Given the description of an element on the screen output the (x, y) to click on. 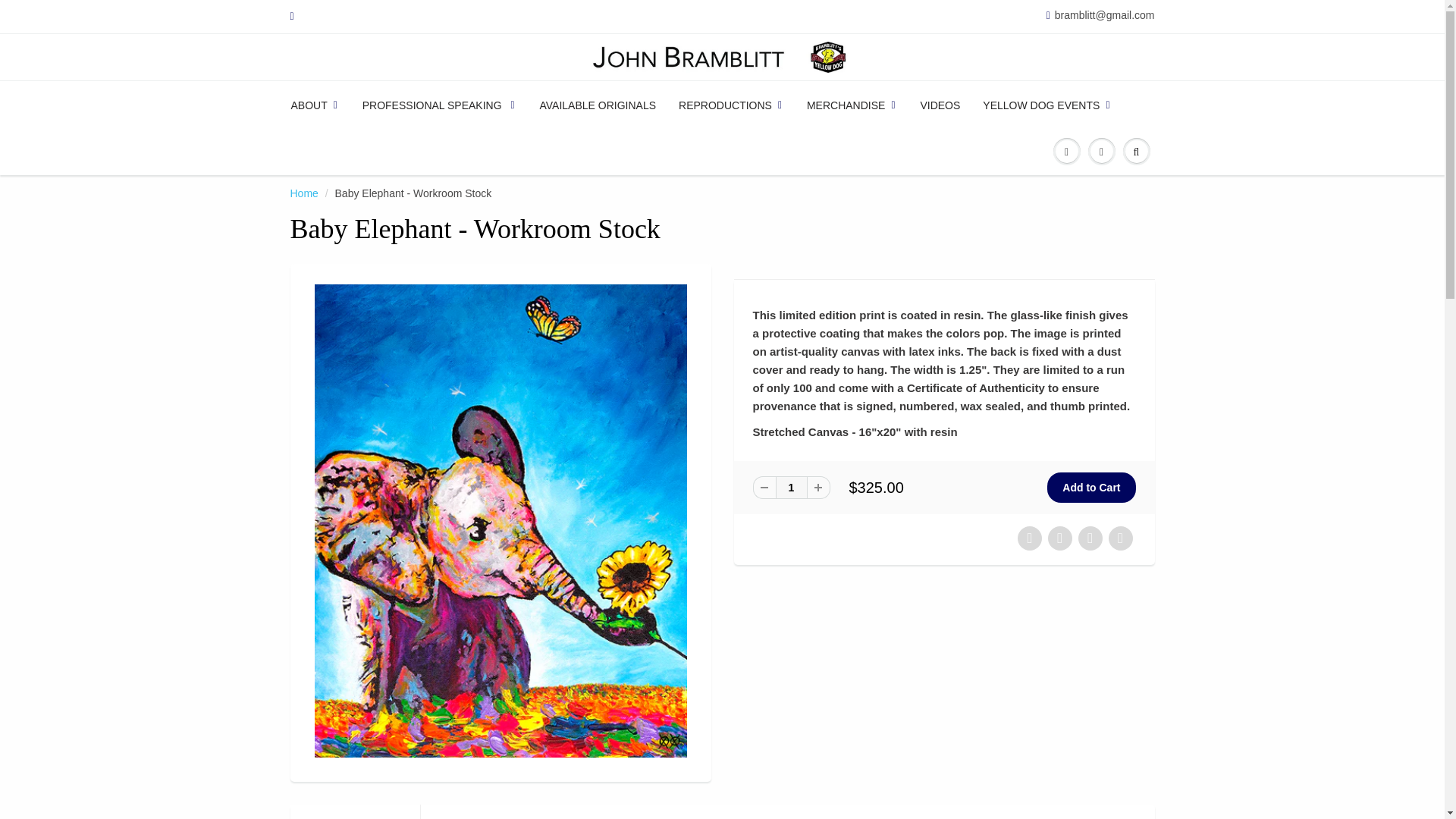
Add to Cart (1090, 487)
Home (303, 193)
REPRODUCTIONS (730, 104)
ABOUT (320, 104)
1 (790, 486)
MERCHANDISE (851, 104)
AVAILABLE ORIGINALS (596, 104)
PROFESSIONAL SPEAKING (439, 104)
VIDEOS (939, 104)
